Given the description of an element on the screen output the (x, y) to click on. 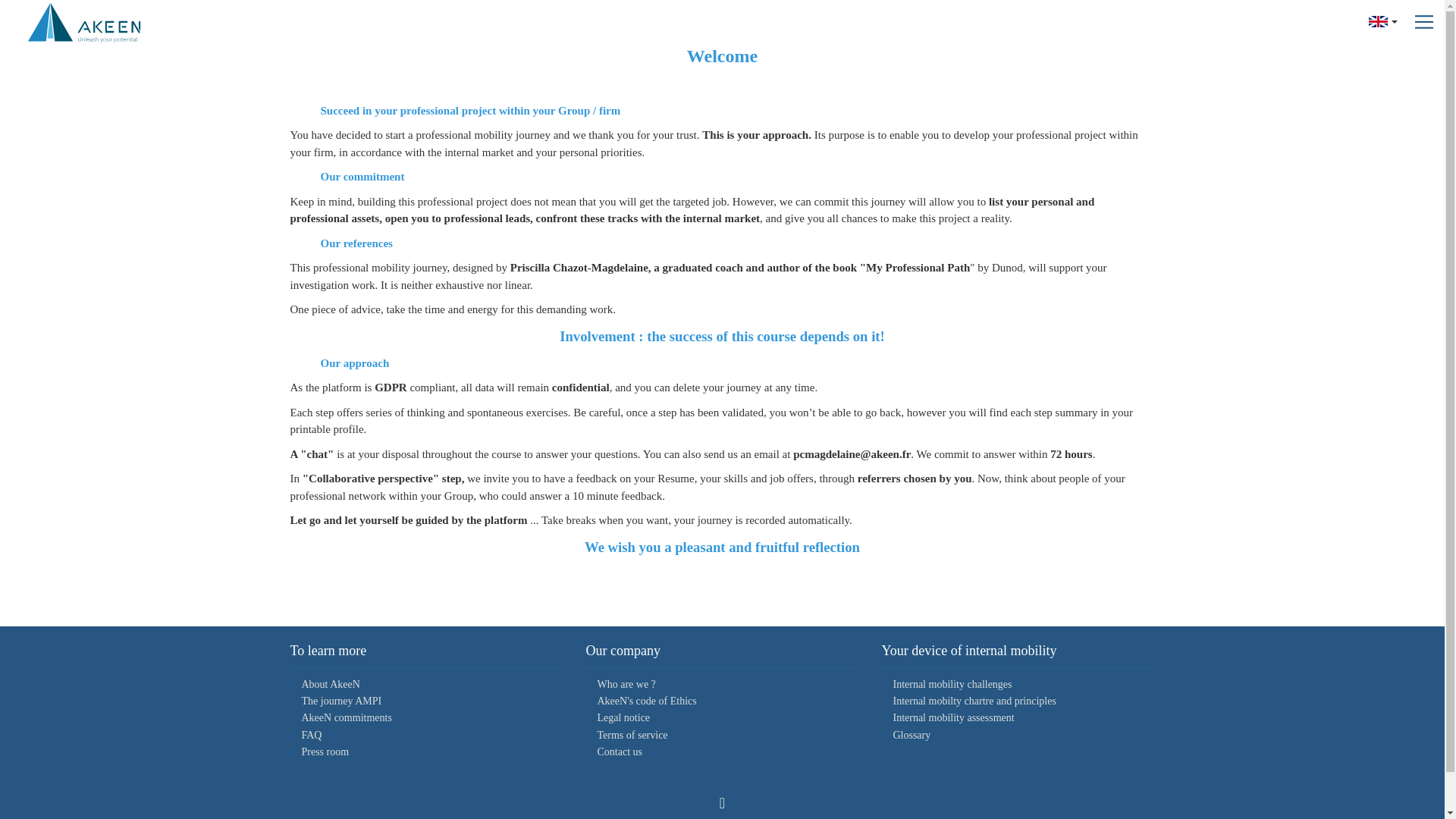
About AkeeN (330, 684)
Press room (325, 751)
AkeeN commitments (346, 717)
Linkedin (722, 802)
Glossary (911, 735)
Contact us (619, 751)
The journey AMPI (341, 700)
Legal notice (622, 717)
Internal mobilty chartre and principles (973, 700)
Terms of service (631, 735)
Internal mobility assessment (952, 717)
FAQ (311, 735)
AkeeN's code of Ethics (645, 700)
Internal mobility challenges (951, 684)
Who are we ? (625, 684)
